Given the description of an element on the screen output the (x, y) to click on. 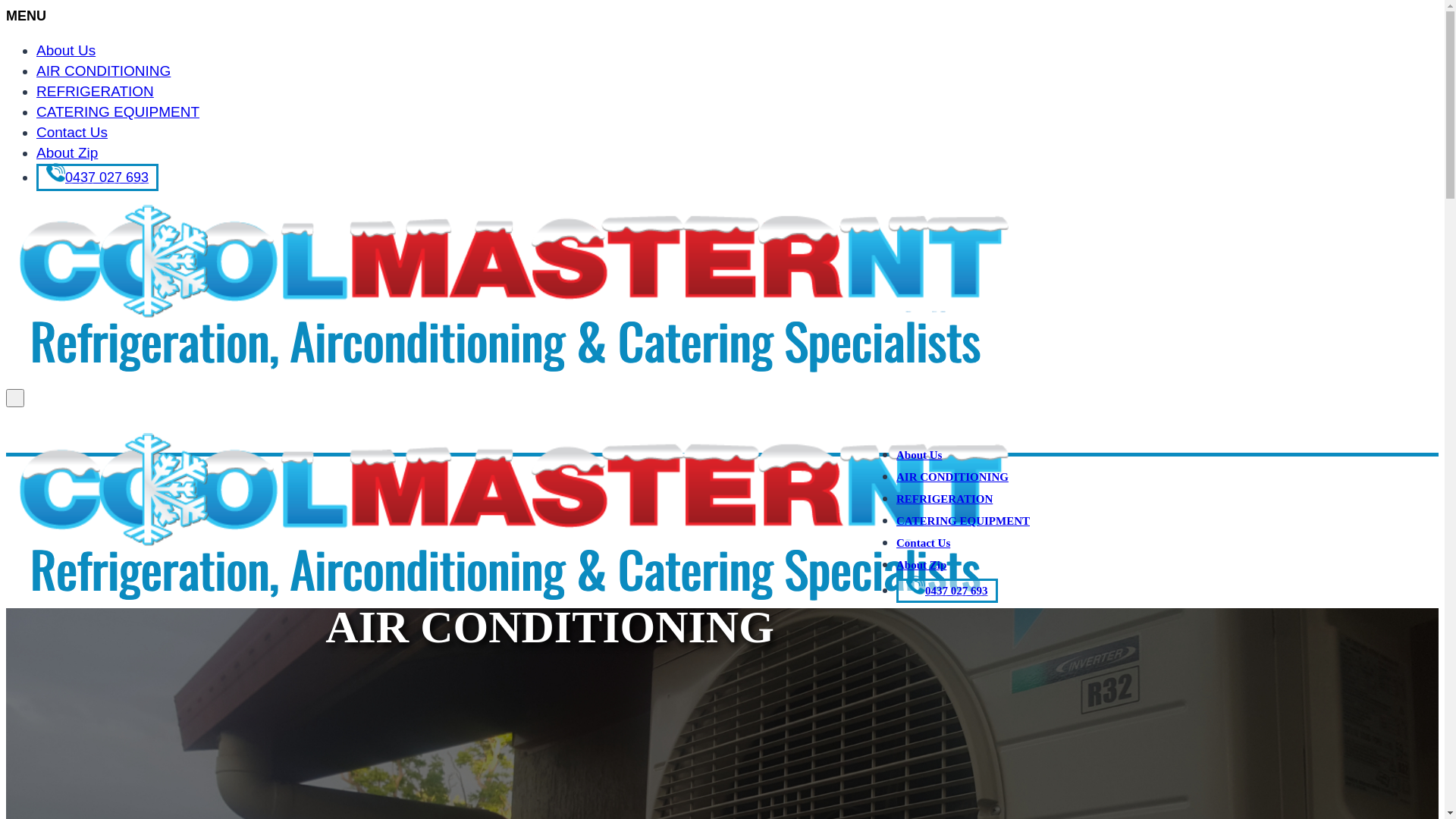
REFRIGERATION Element type: text (94, 91)
Contact Us Element type: text (71, 132)
AIR CONDITIONING Element type: text (103, 70)
CATERING EQUIPMENT Element type: text (117, 111)
Contact Us Element type: text (923, 542)
0437 027 693 Element type: text (97, 177)
About Us Element type: text (65, 50)
About Zip Element type: text (66, 152)
MENU Element type: text (26, 15)
About Zip Element type: text (921, 564)
REFRIGERATION Element type: text (944, 498)
CATERING EQUIPMENT Element type: text (962, 520)
About Us Element type: text (918, 454)
0437 027 693 Element type: text (946, 590)
AIR CONDITIONING Element type: text (952, 476)
